Given the description of an element on the screen output the (x, y) to click on. 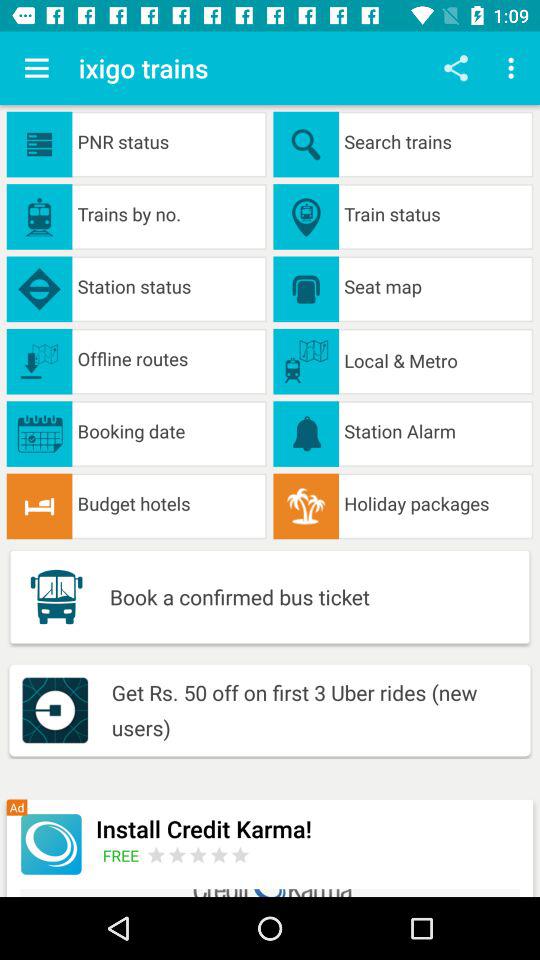
choose the app to the left of ixigo trains item (36, 68)
